Given the description of an element on the screen output the (x, y) to click on. 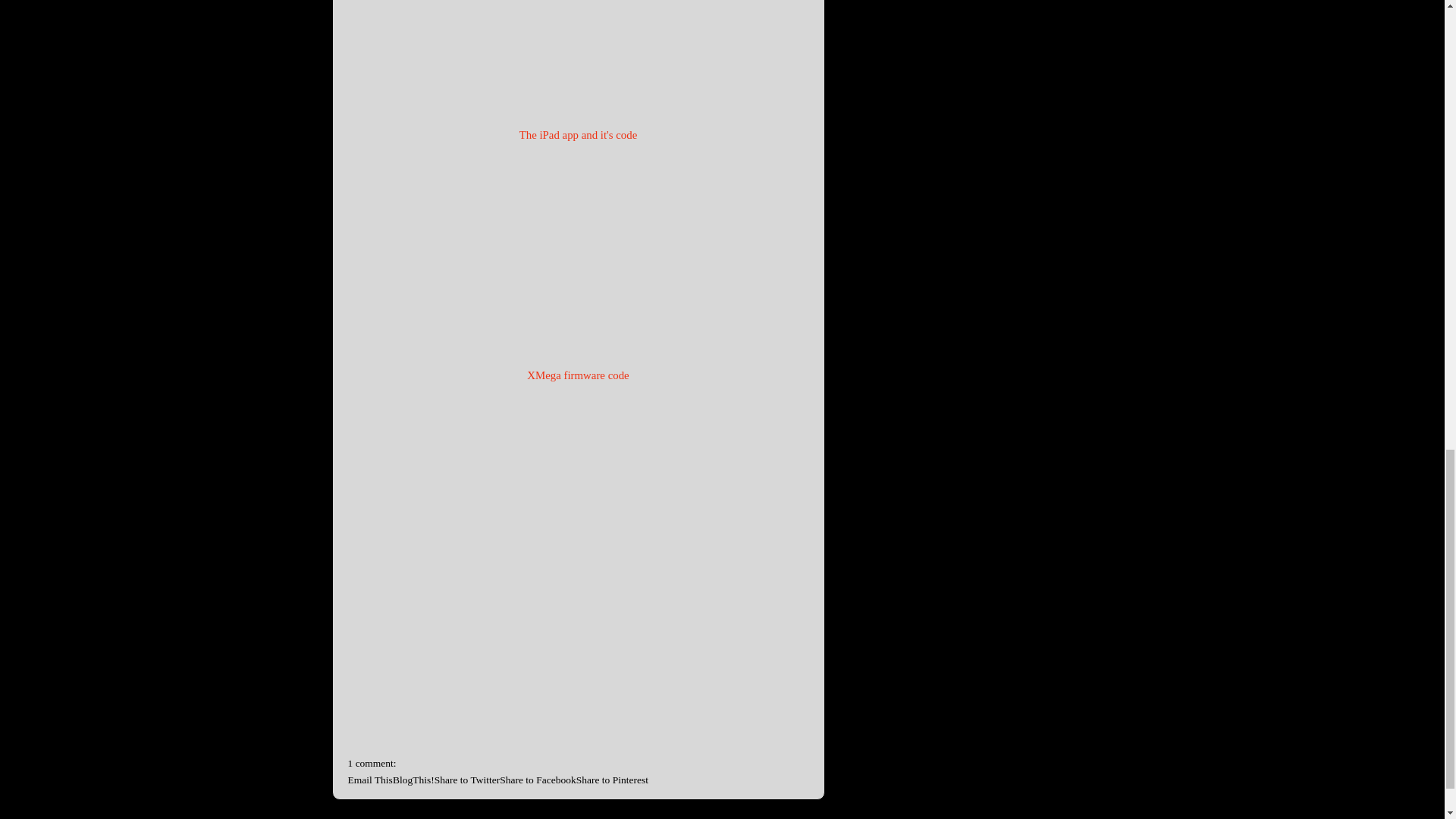
Share to Facebook (537, 779)
Share to Twitter (466, 779)
Share to Pinterest (611, 779)
Email This (369, 779)
Share to Twitter (466, 779)
Share to Facebook (537, 779)
Email This (369, 779)
BlogThis! (413, 779)
1 comment: (371, 763)
BlogThis! (413, 779)
